Given the description of an element on the screen output the (x, y) to click on. 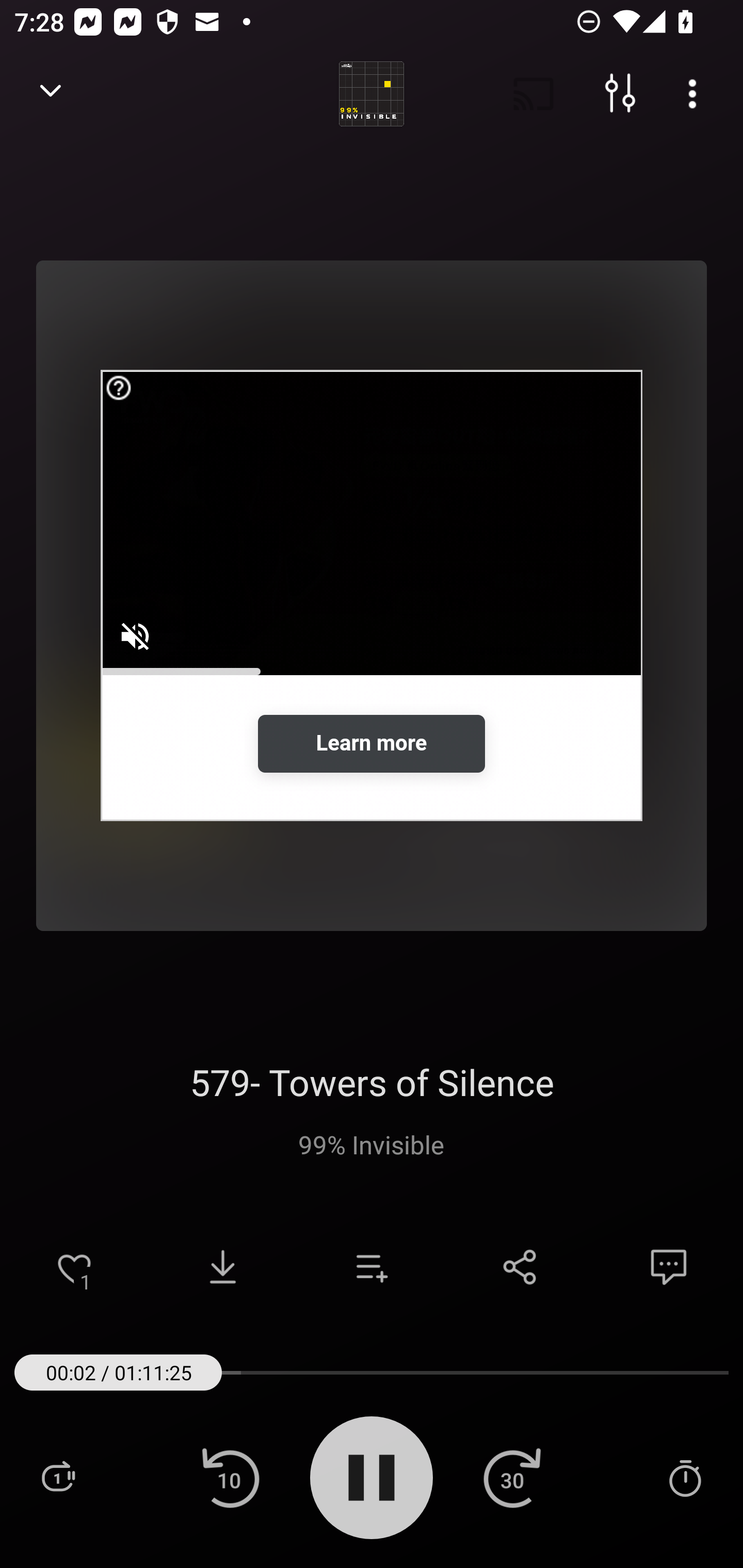
 Back (50, 94)
579- Towers of Silence (371, 1081)
99% Invisible (371, 1144)
Comments (668, 1266)
Add to Favorites (73, 1266)
Add to playlist (371, 1266)
Share (519, 1266)
 Playlist (57, 1477)
Sleep Timer  (684, 1477)
